Given the description of an element on the screen output the (x, y) to click on. 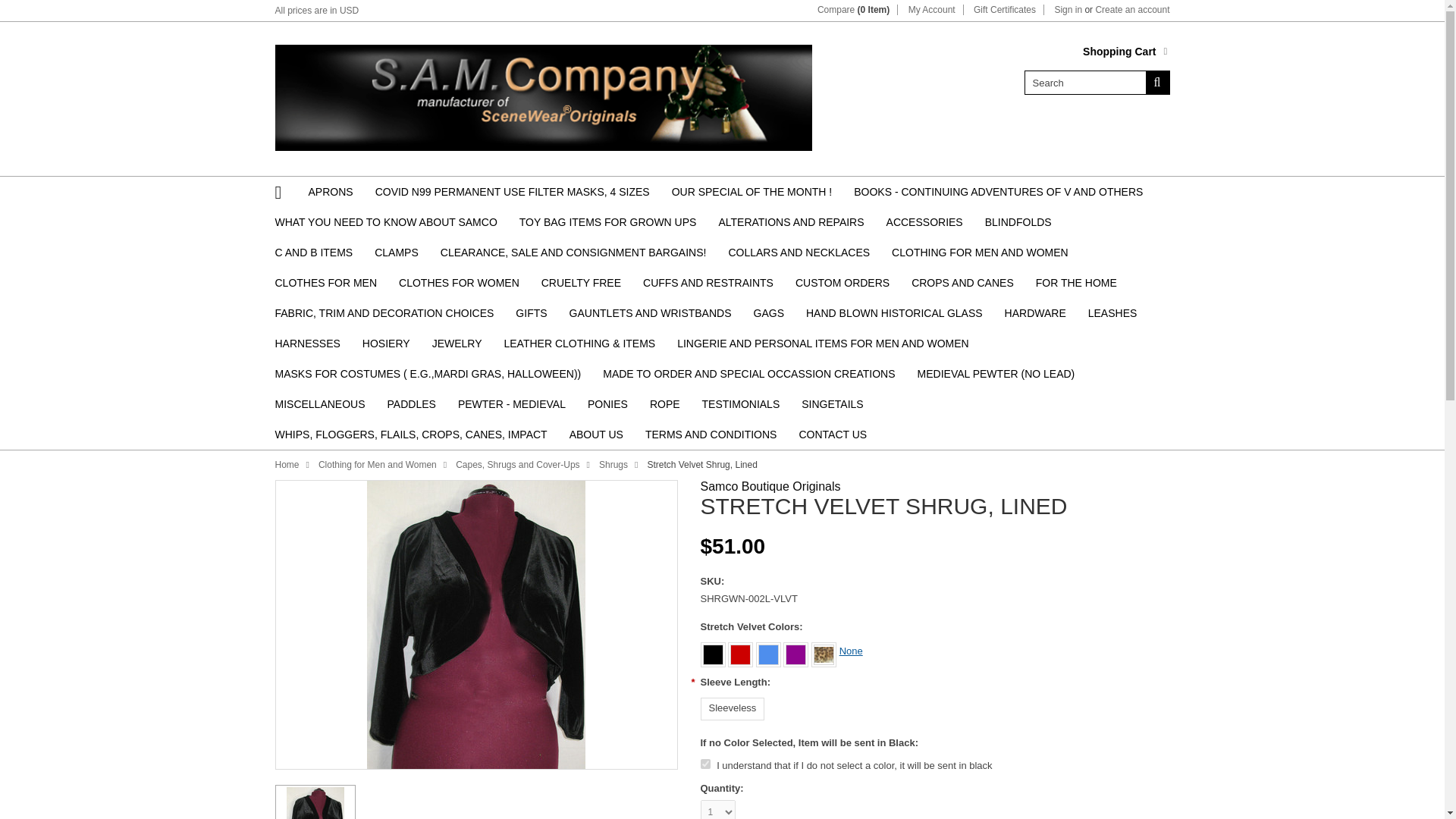
BLINDFOLDS (1018, 222)
CLEARANCE, SALE AND CONSIGNMENT BARGAINS! (573, 252)
Home (283, 192)
Create an account (1131, 9)
US Dollars (348, 9)
Sign in (1067, 9)
Search (1156, 82)
ACCESSORIES (924, 222)
CLOTHING FOR MEN AND WOMEN (979, 252)
Search (1083, 82)
BOOKS - CONTINUING ADVENTURES OF V AND OTHERS (997, 191)
WHAT YOU NEED TO KNOW ABOUT SAMCO (385, 222)
Gift Certificates (1004, 9)
C AND B ITEMS (313, 252)
My Account (931, 9)
